Given the description of an element on the screen output the (x, y) to click on. 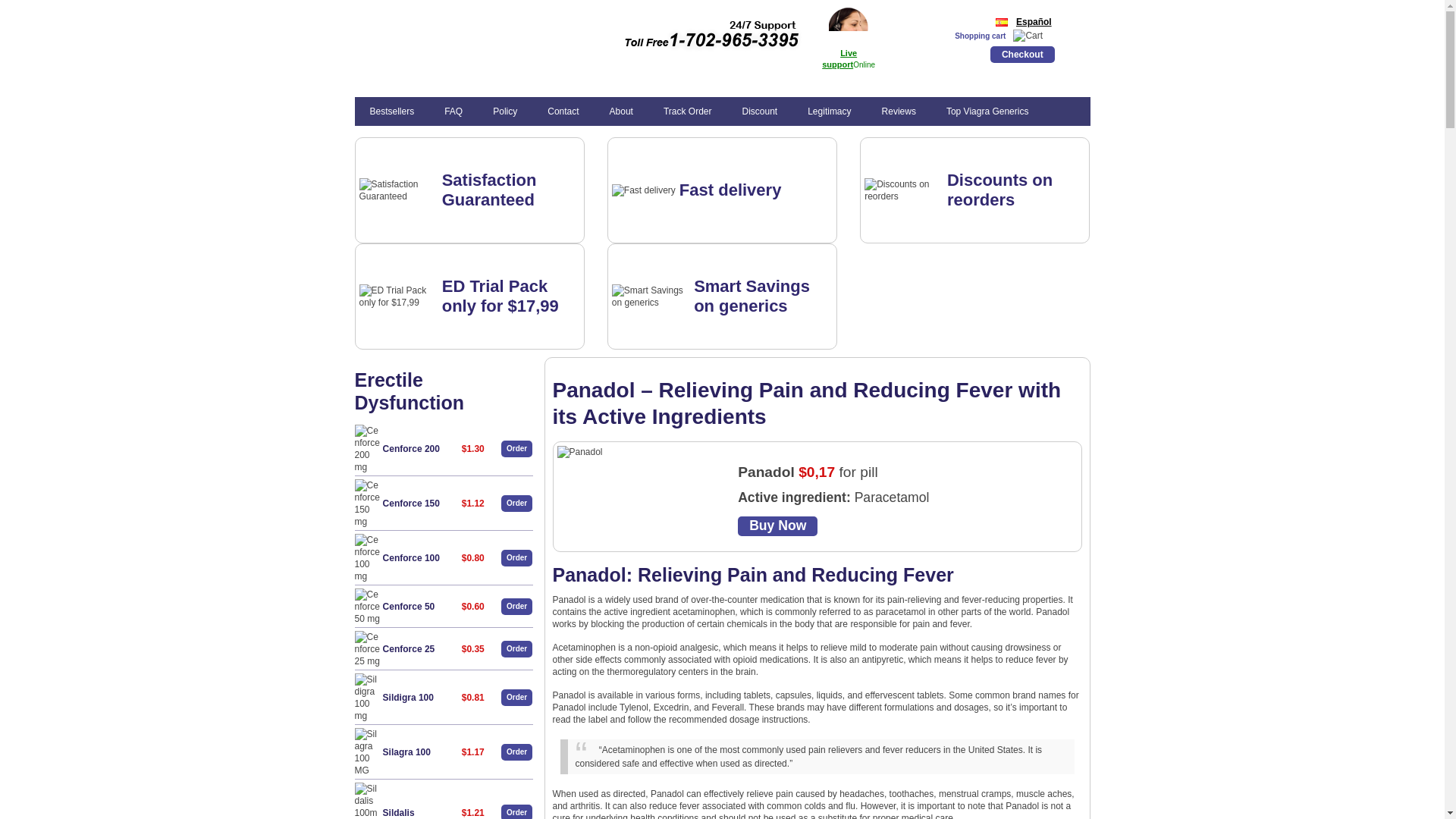
Smart Savings on generics (751, 295)
Checkout (1022, 53)
FAQ (453, 111)
Contact (563, 111)
Shopping cart (980, 35)
Track Order (686, 111)
Buy Now (777, 525)
Reviews (898, 111)
Bestsellers (392, 111)
Live support (839, 58)
Top Viagra Generics (987, 111)
Checkout (1022, 53)
Policy (504, 111)
Satisfaction Guaranteed (489, 189)
About (620, 111)
